Given the description of an element on the screen output the (x, y) to click on. 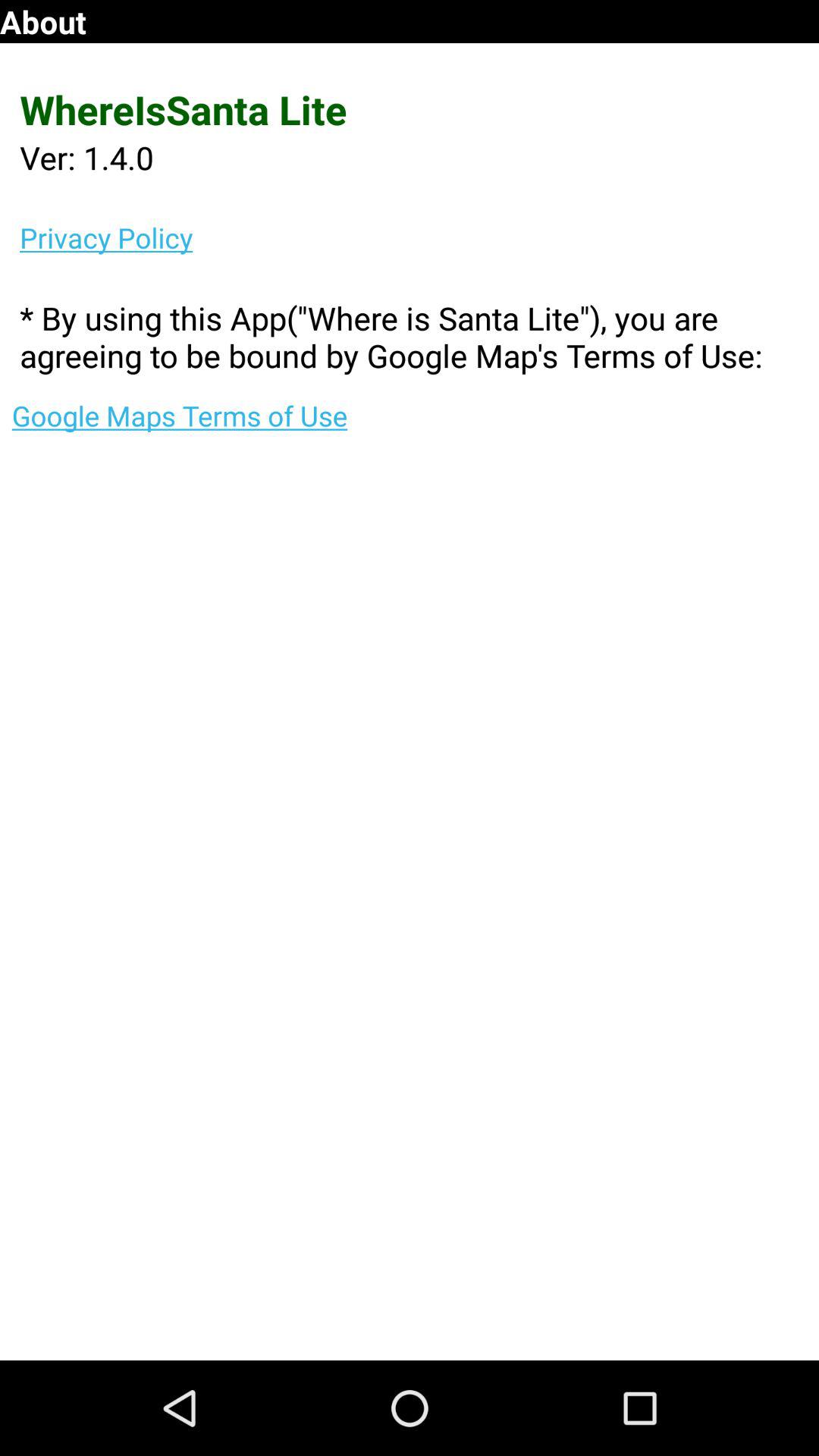
scroll until privacy policy app (419, 237)
